Given the description of an element on the screen output the (x, y) to click on. 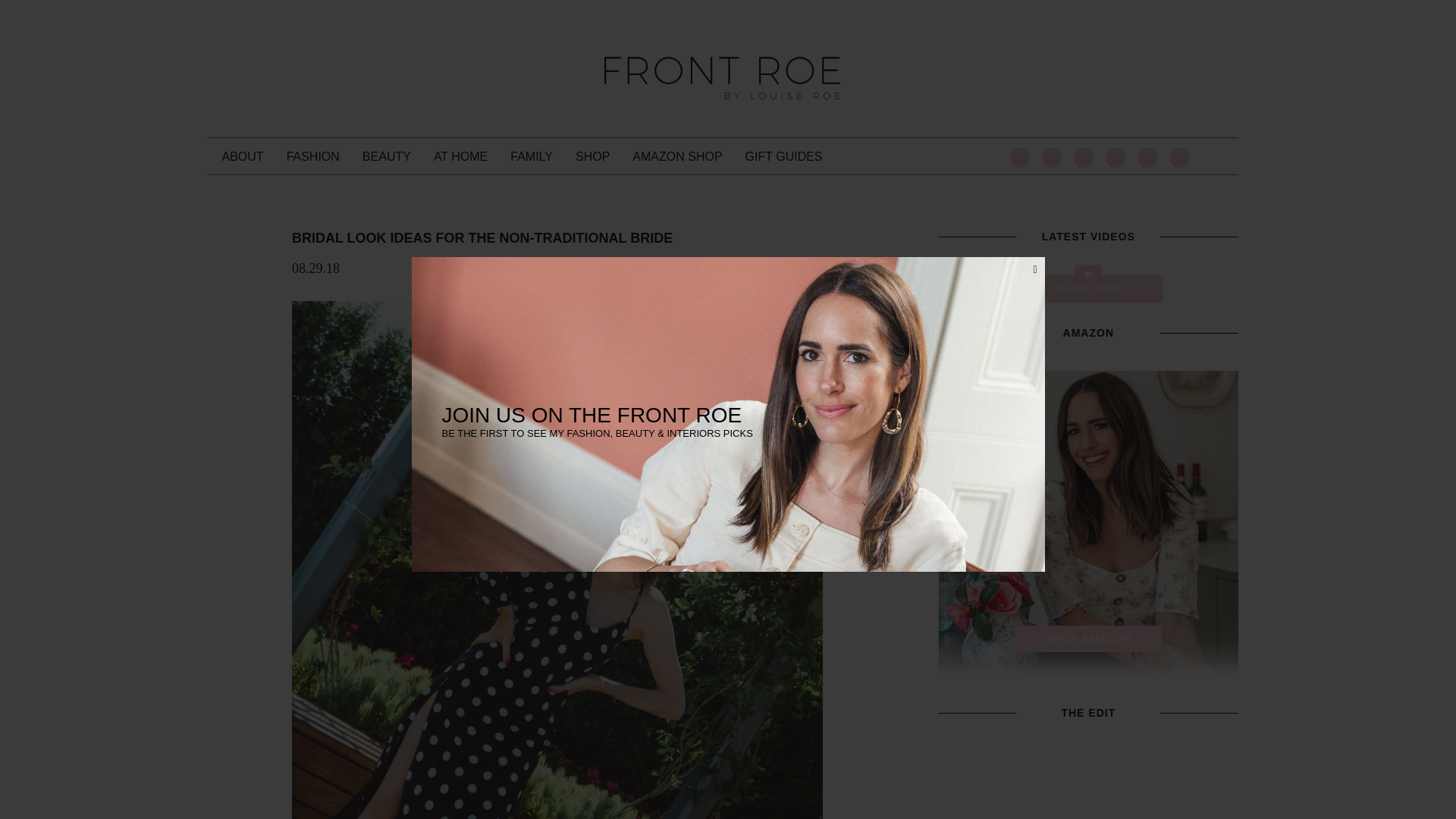
AT HOME (460, 155)
FAMILY (532, 155)
SHOP (592, 155)
FASHION (312, 155)
GIFT GUIDES (783, 155)
Front Roe by Louise Roe (722, 77)
ABOUT (242, 155)
BEAUTY (386, 155)
AMAZON SHOP (676, 155)
